Given the description of an element on the screen output the (x, y) to click on. 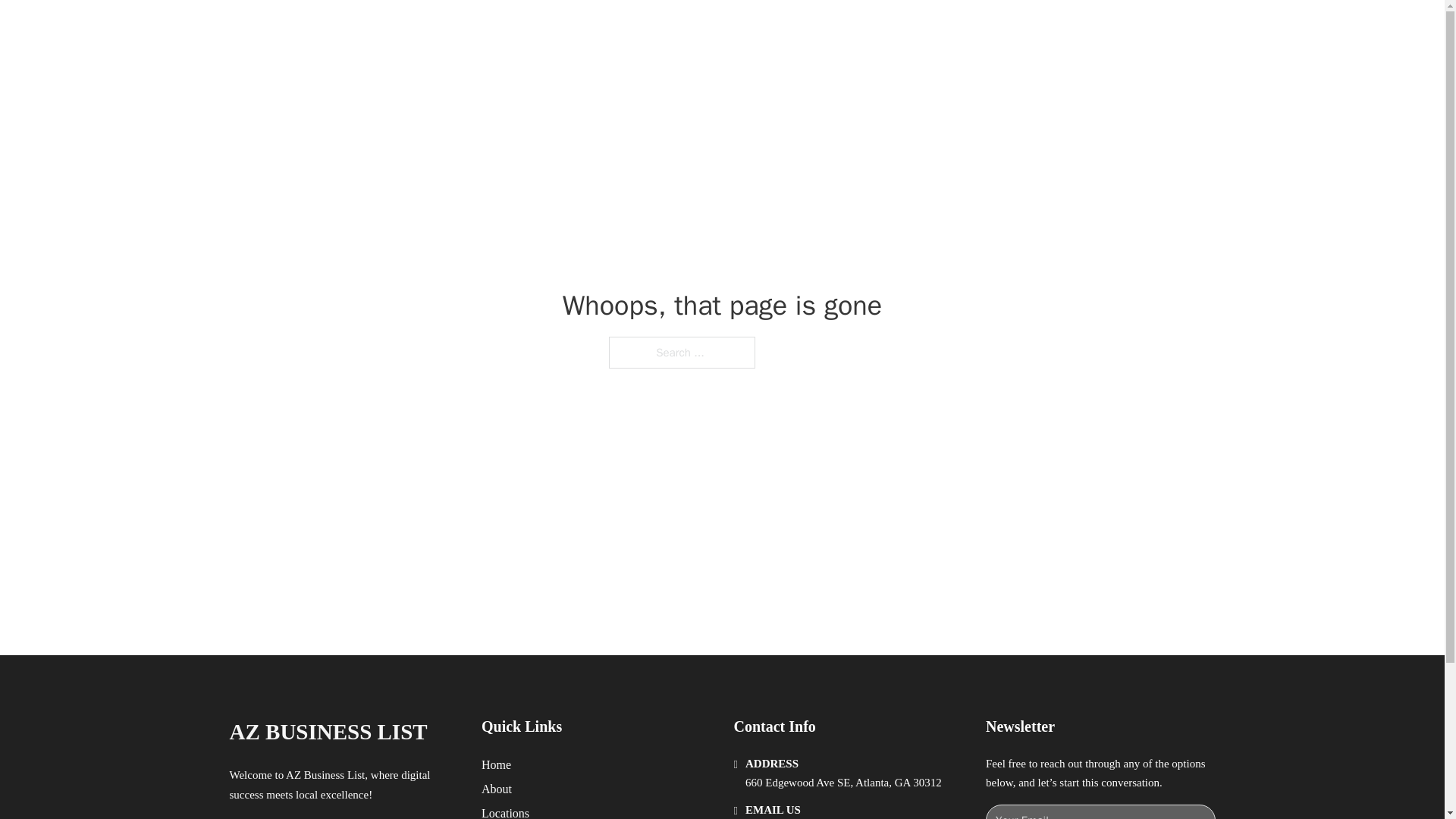
AZ BUSINESS LIST (403, 28)
AZ BUSINESS LIST (327, 732)
Locations (505, 811)
HOME (919, 29)
LOCATIONS (990, 29)
Home (496, 764)
About (496, 788)
